Given the description of an element on the screen output the (x, y) to click on. 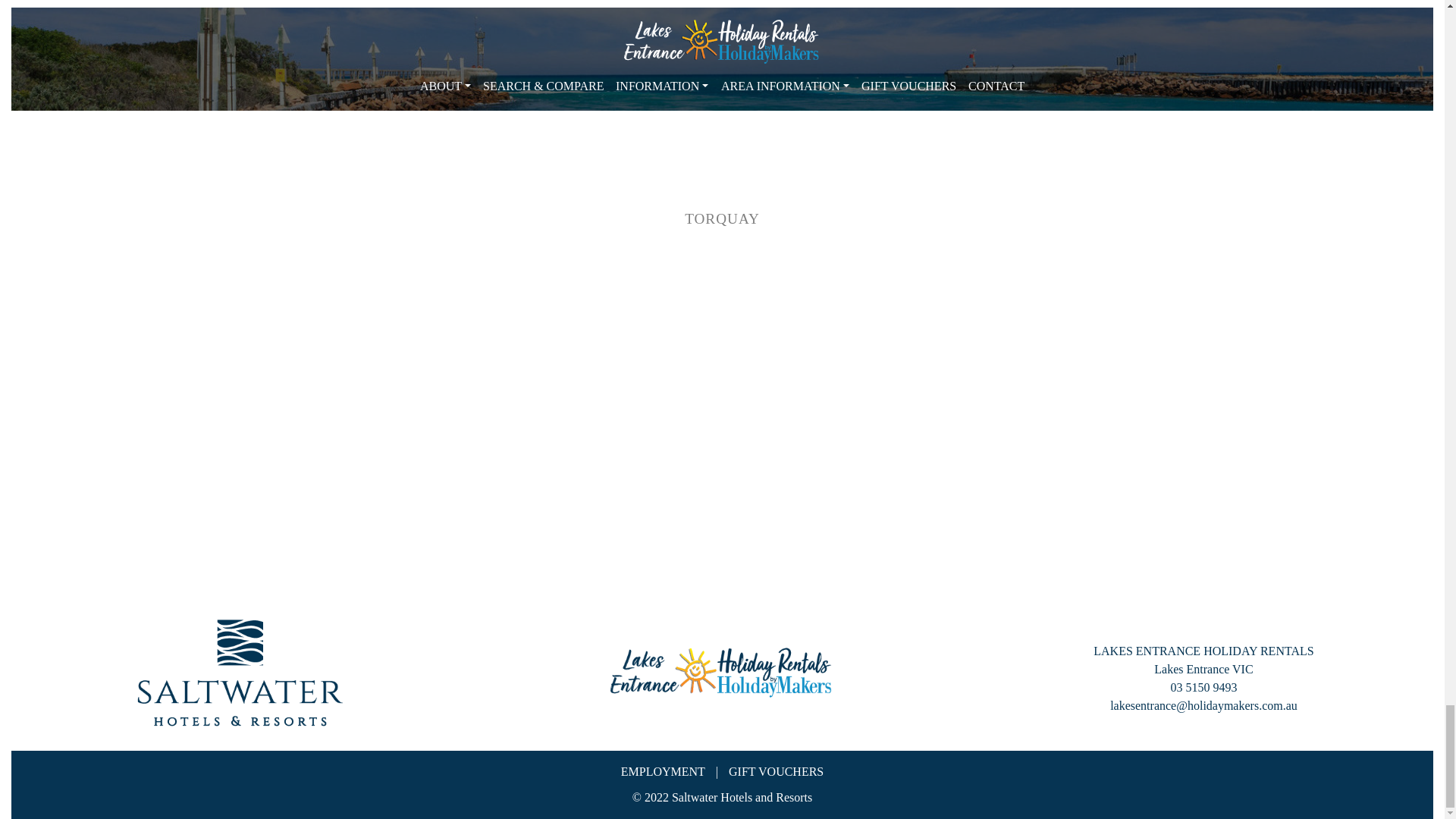
GIFT VOUCHERS (776, 771)
EMPLOYMENT (662, 771)
